Given the description of an element on the screen output the (x, y) to click on. 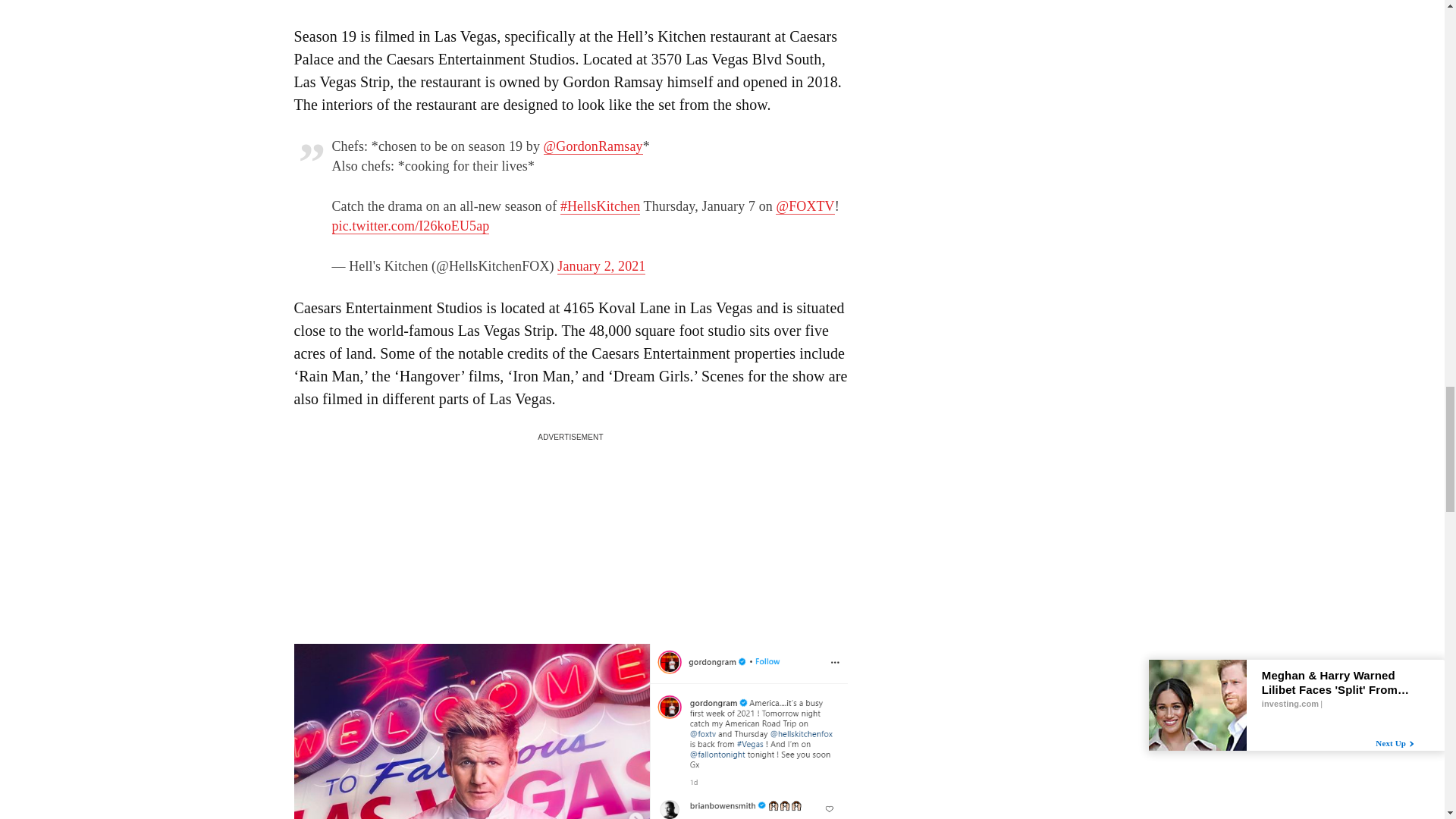
January 2, 2021 (601, 266)
